Given the description of an element on the screen output the (x, y) to click on. 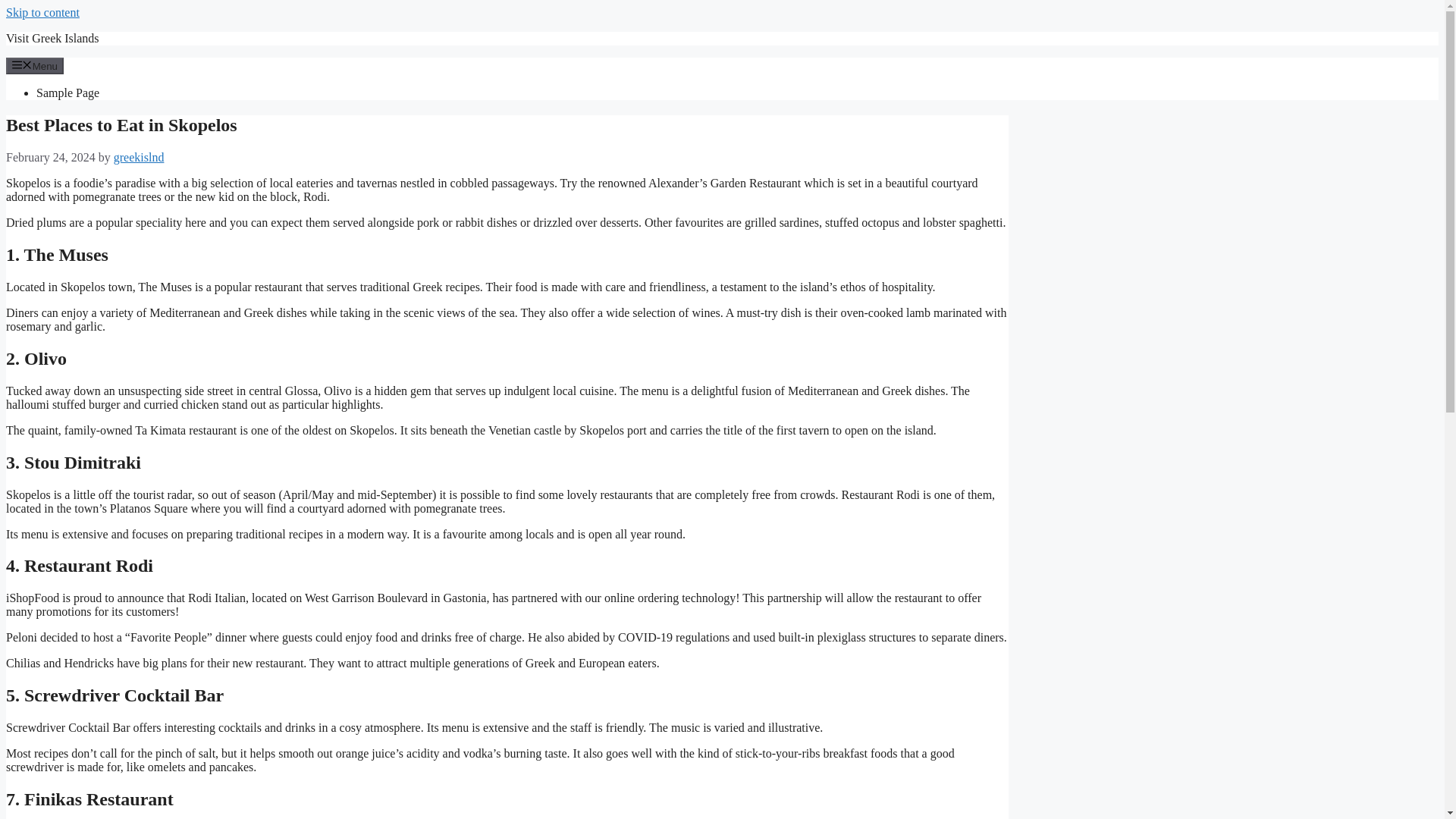
Sample Page (67, 92)
View all posts by greekislnd (138, 156)
greekislnd (138, 156)
Menu (34, 65)
Skip to content (42, 11)
Skip to content (42, 11)
Visit Greek Islands (52, 38)
